Given the description of an element on the screen output the (x, y) to click on. 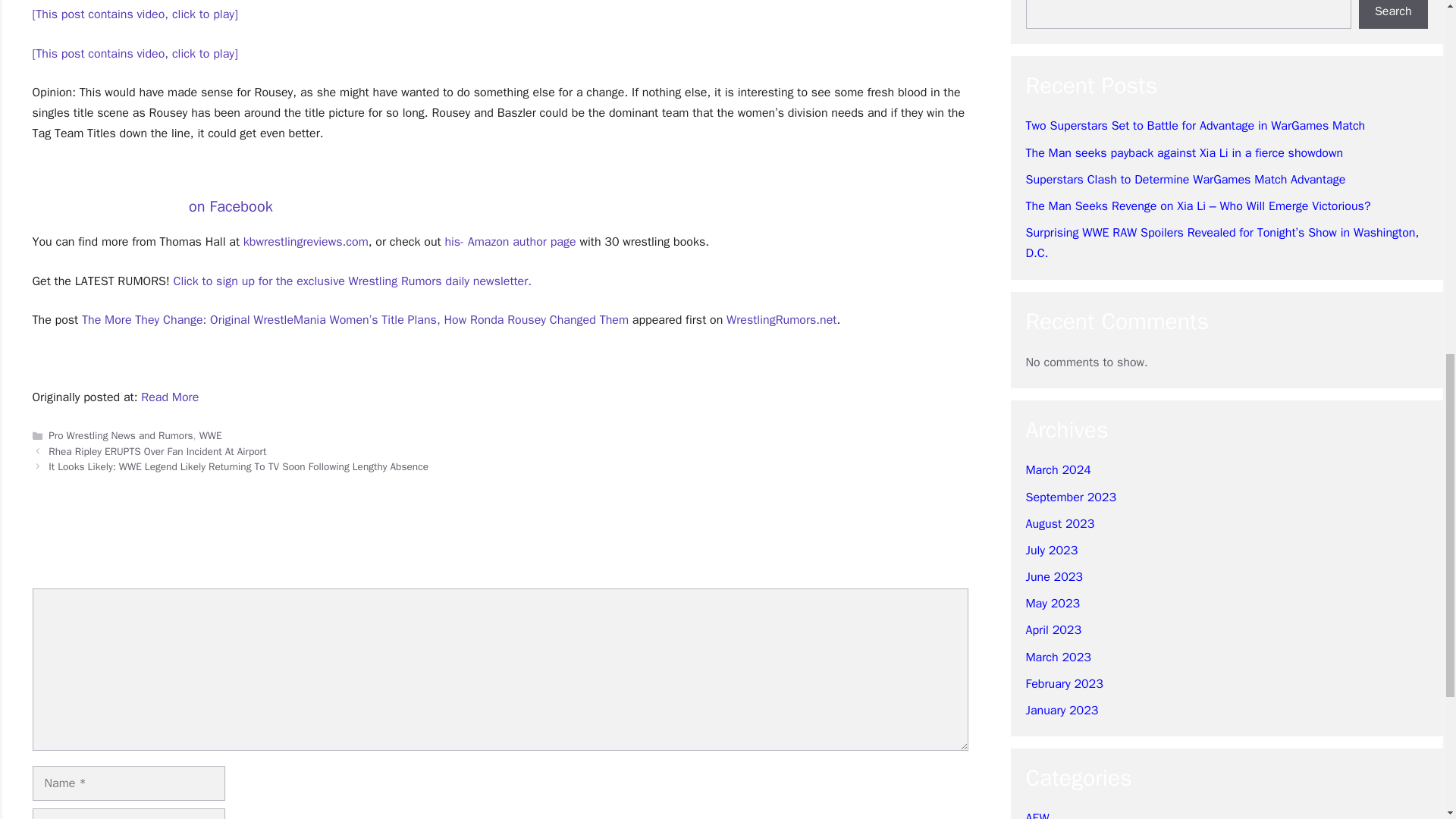
Click to watch the video (134, 14)
WrestlingRumors.net (780, 319)
Click to watch the video (134, 53)
on Facebook (231, 206)
Scroll back to top (1406, 720)
Rhea Ripley ERUPTS Over Fan Incident At Airport (157, 451)
kbwrestlingreviews.com (305, 241)
May 2023 (1052, 4)
Pro Wrestling News and Rumors (120, 435)
WWE (210, 435)
Read More (169, 396)
his- Amazon author page (509, 241)
